Given the description of an element on the screen output the (x, y) to click on. 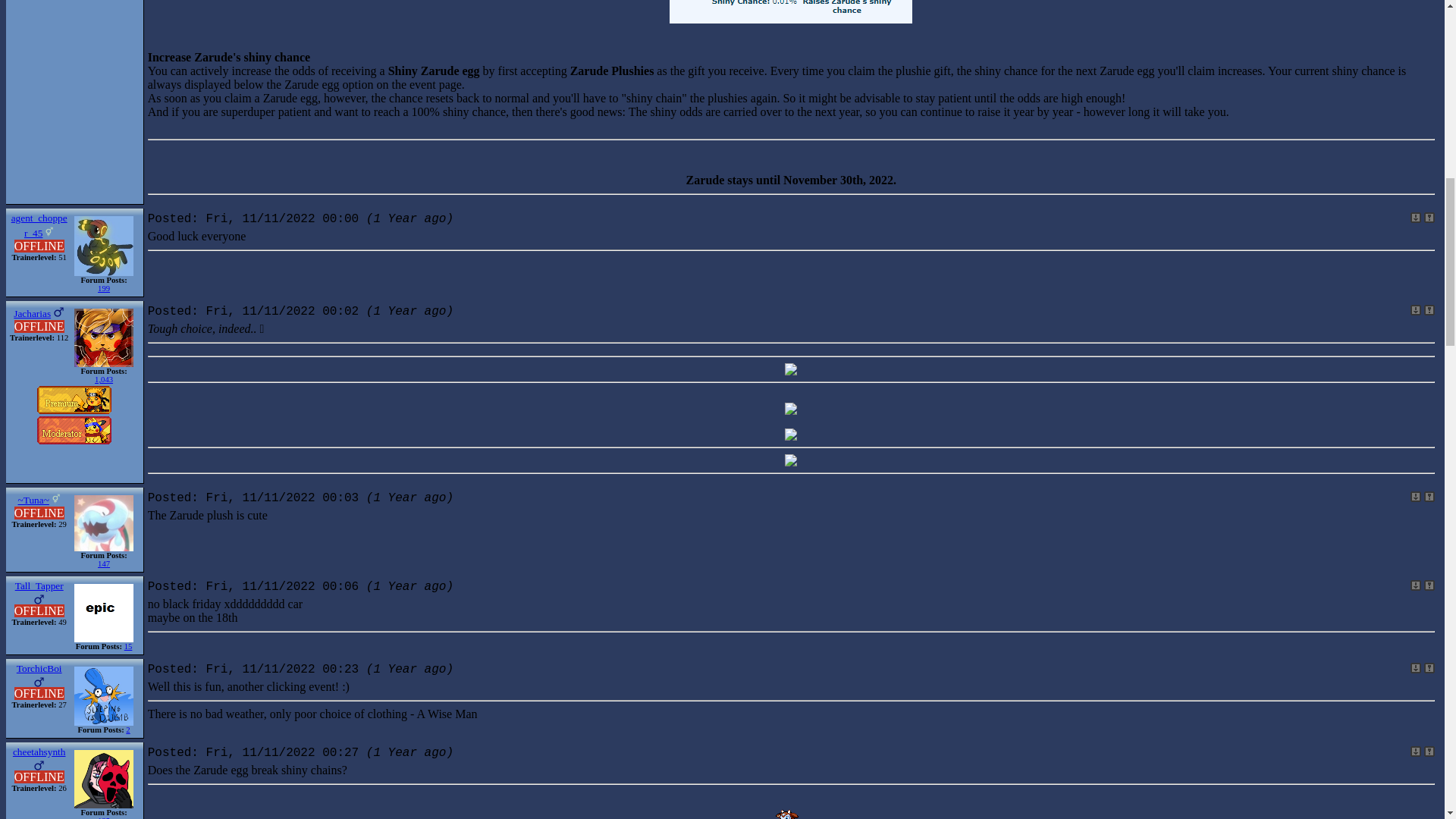
1,043 (103, 379)
Permanent Link to this Post (1415, 217)
Jacharias (31, 312)
Permanent Link to this Post (1415, 496)
Permanent Link to this Post (1415, 667)
Permanent Link to this Post (1415, 584)
199 (103, 288)
Permanent Link to this Post (1415, 751)
Permanent Link to this Post (1415, 309)
